Given the description of an element on the screen output the (x, y) to click on. 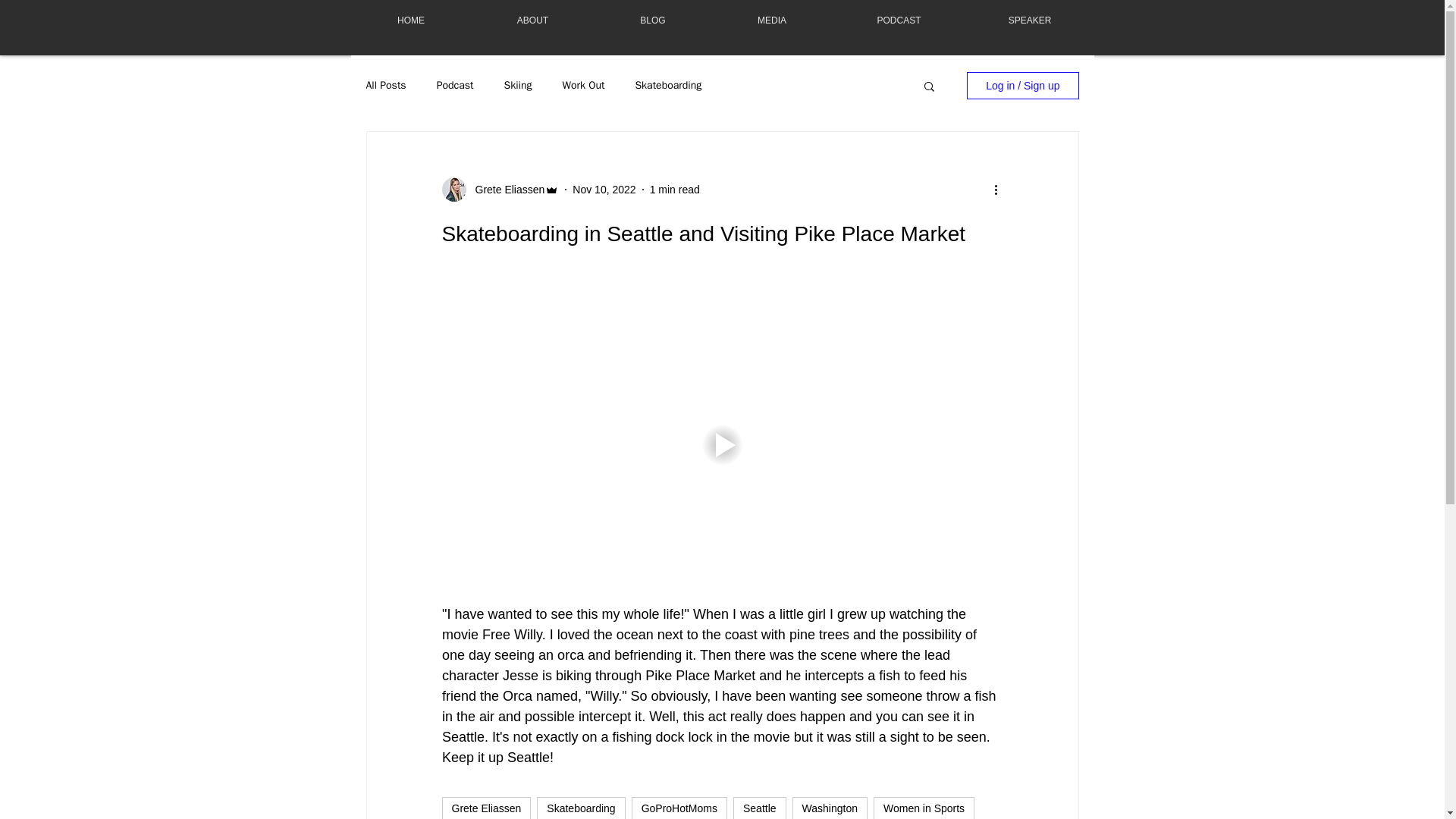
1 min read (674, 189)
Skiing (517, 85)
Grete Eliassen (486, 807)
SPEAKER (1030, 20)
Work Out (583, 85)
Skateboarding (667, 85)
ABOUT (532, 20)
HOME (410, 20)
PODCAST (899, 20)
All Posts (385, 85)
